Given the description of an element on the screen output the (x, y) to click on. 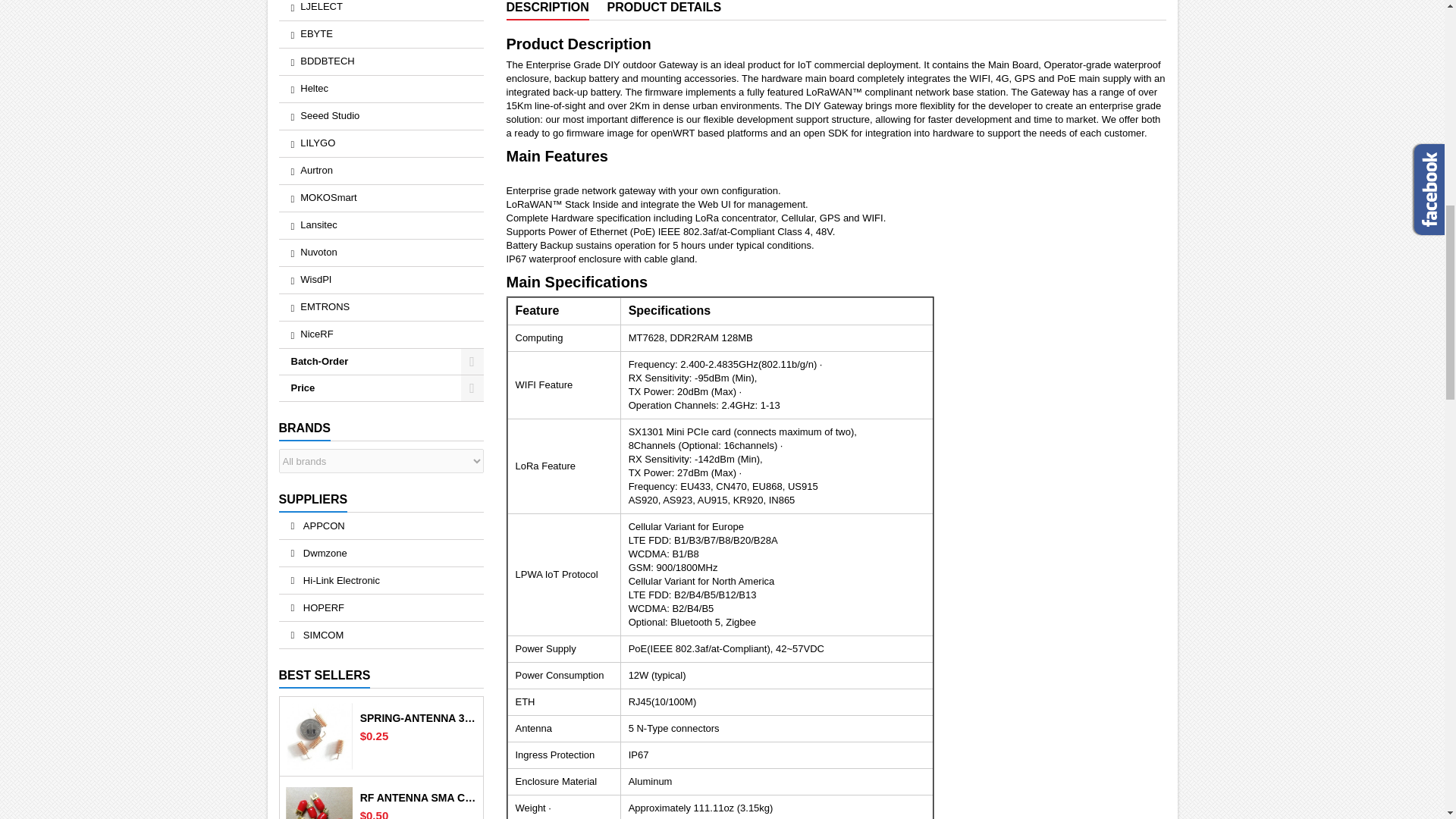
Suppliers (313, 500)
Brands (304, 428)
Hi-Link Electronic  (381, 580)
APPCON (381, 525)
Dwmzone (381, 552)
HOPERF (381, 607)
SIMCOM (381, 634)
